Given the description of an element on the screen output the (x, y) to click on. 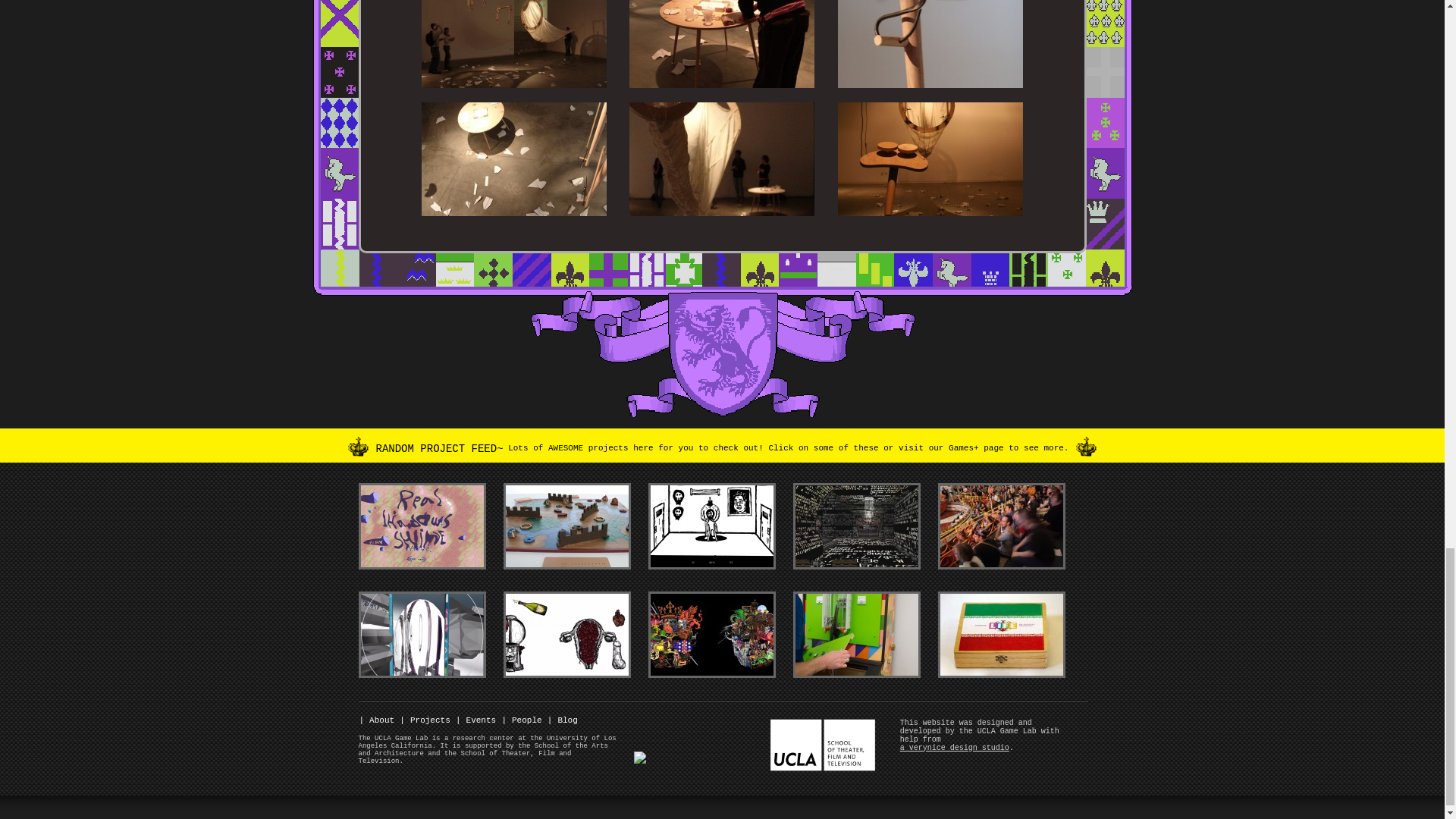
a verynice design studio (954, 747)
